Given the description of an element on the screen output the (x, y) to click on. 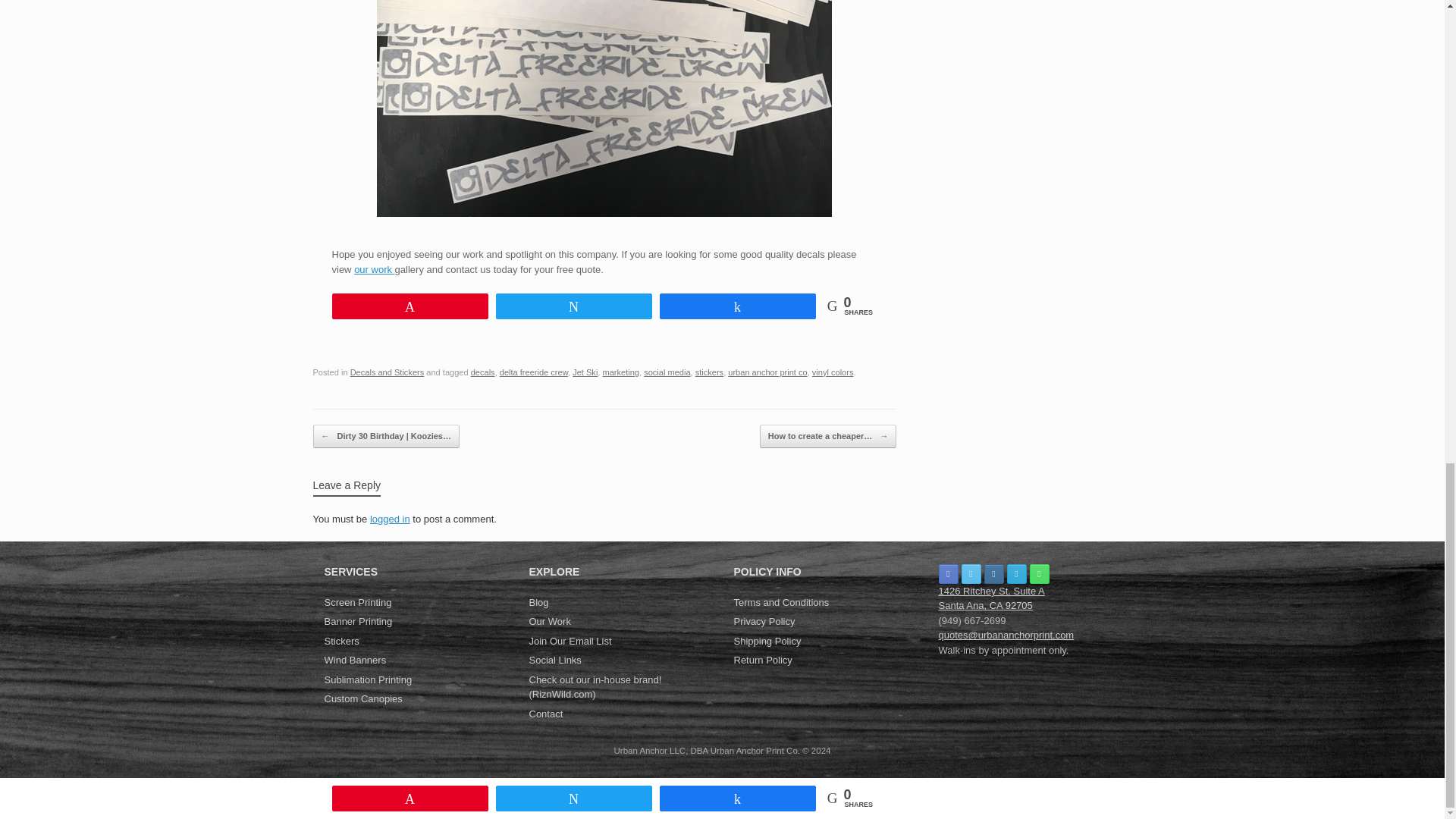
urban anchor print co (767, 371)
Jet Ski (584, 371)
our work (373, 269)
stickers (709, 371)
delta freeride crew (533, 371)
logged in (389, 518)
Screen Printing (415, 603)
decals (482, 371)
vinyl colors (832, 371)
Stickers (415, 642)
social media (666, 371)
finished di-cut decals (604, 108)
marketing (620, 371)
Decals and Stickers (387, 371)
Banner Printing (415, 622)
